Given the description of an element on the screen output the (x, y) to click on. 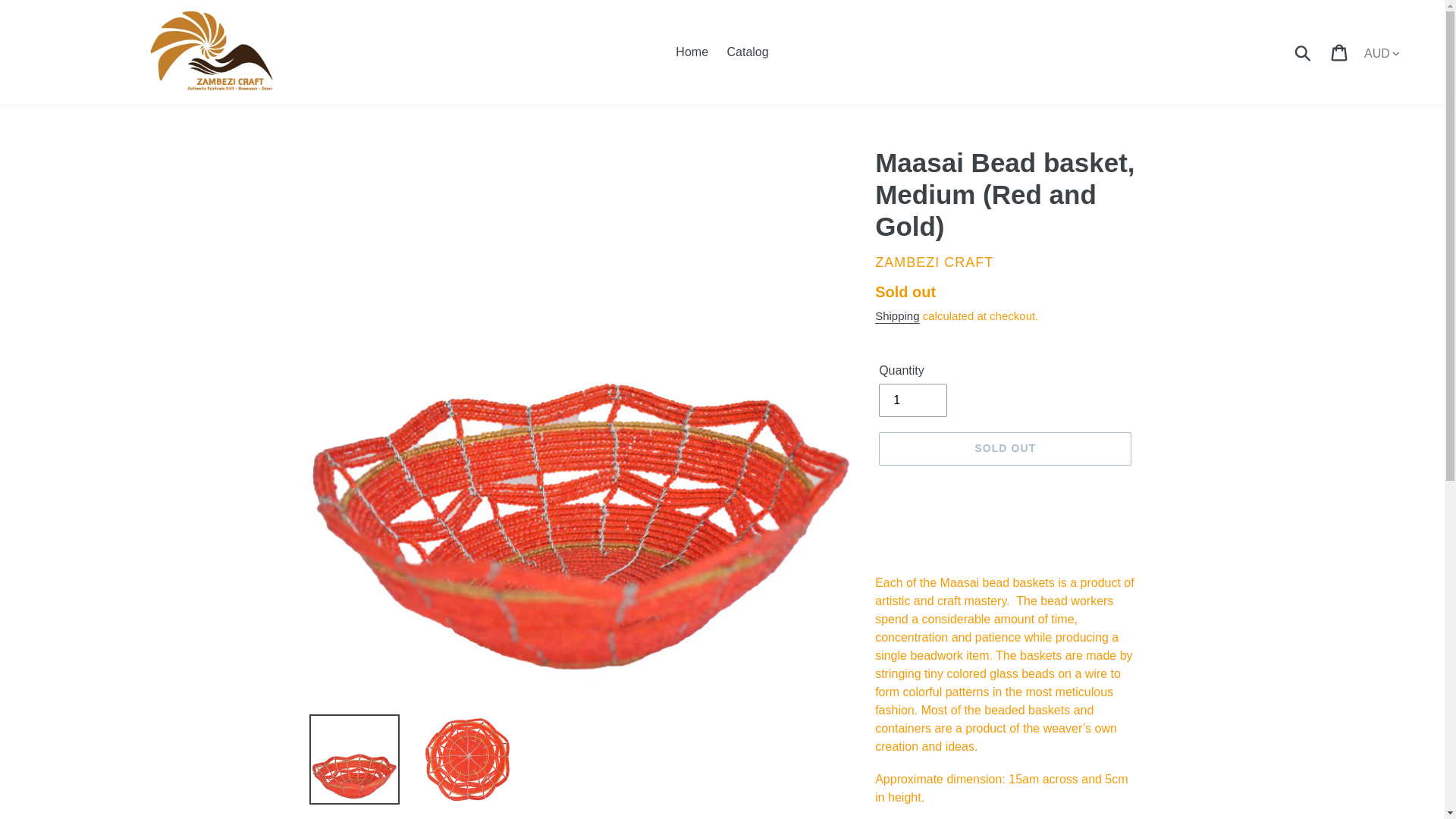
SOLD OUT (1005, 449)
Catalog (747, 51)
1 (913, 400)
Home (692, 51)
Submit (1303, 52)
Shipping (896, 316)
Cart (1340, 52)
